Given the description of an element on the screen output the (x, y) to click on. 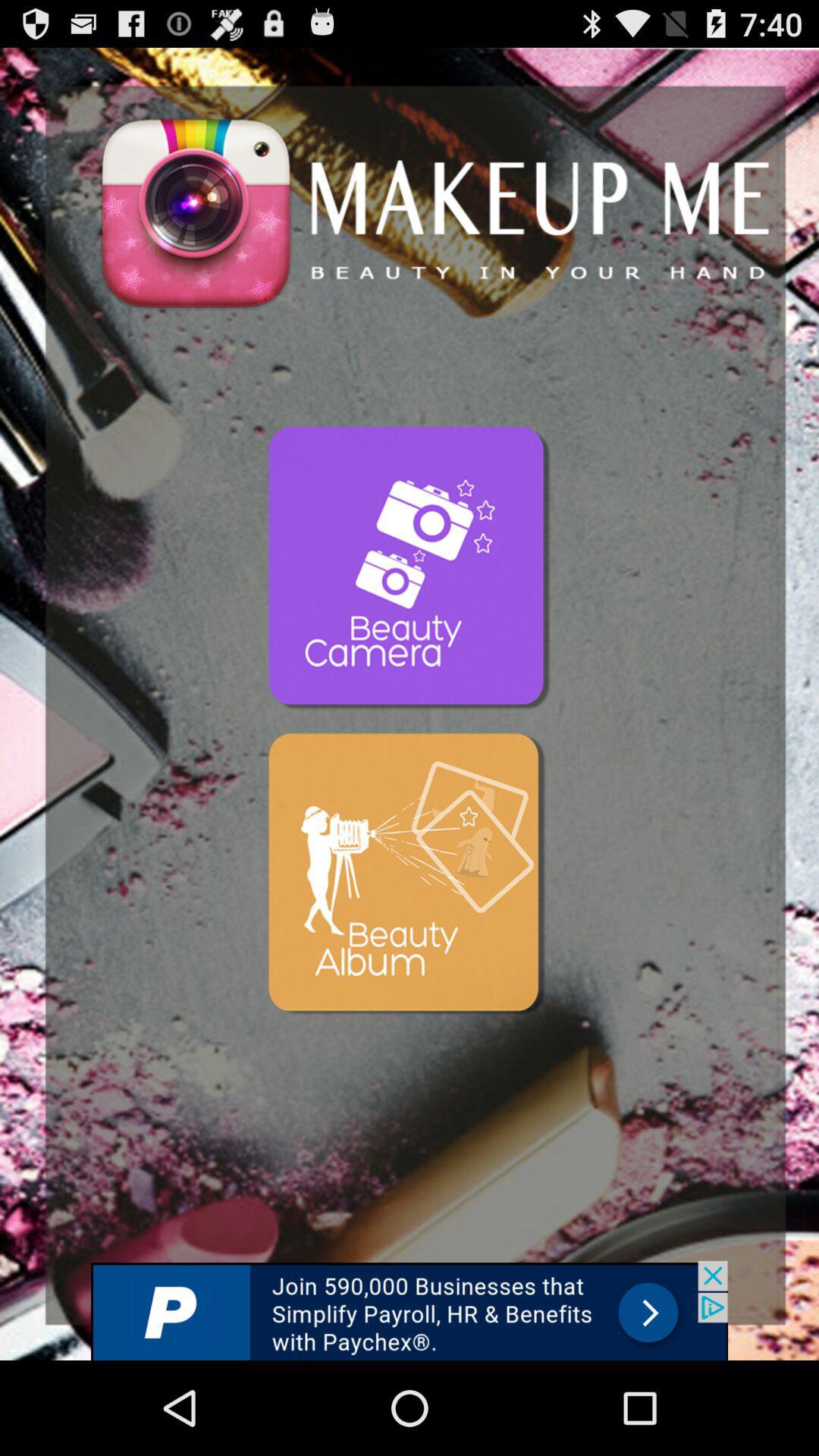
camera button (409, 568)
